Given the description of an element on the screen output the (x, y) to click on. 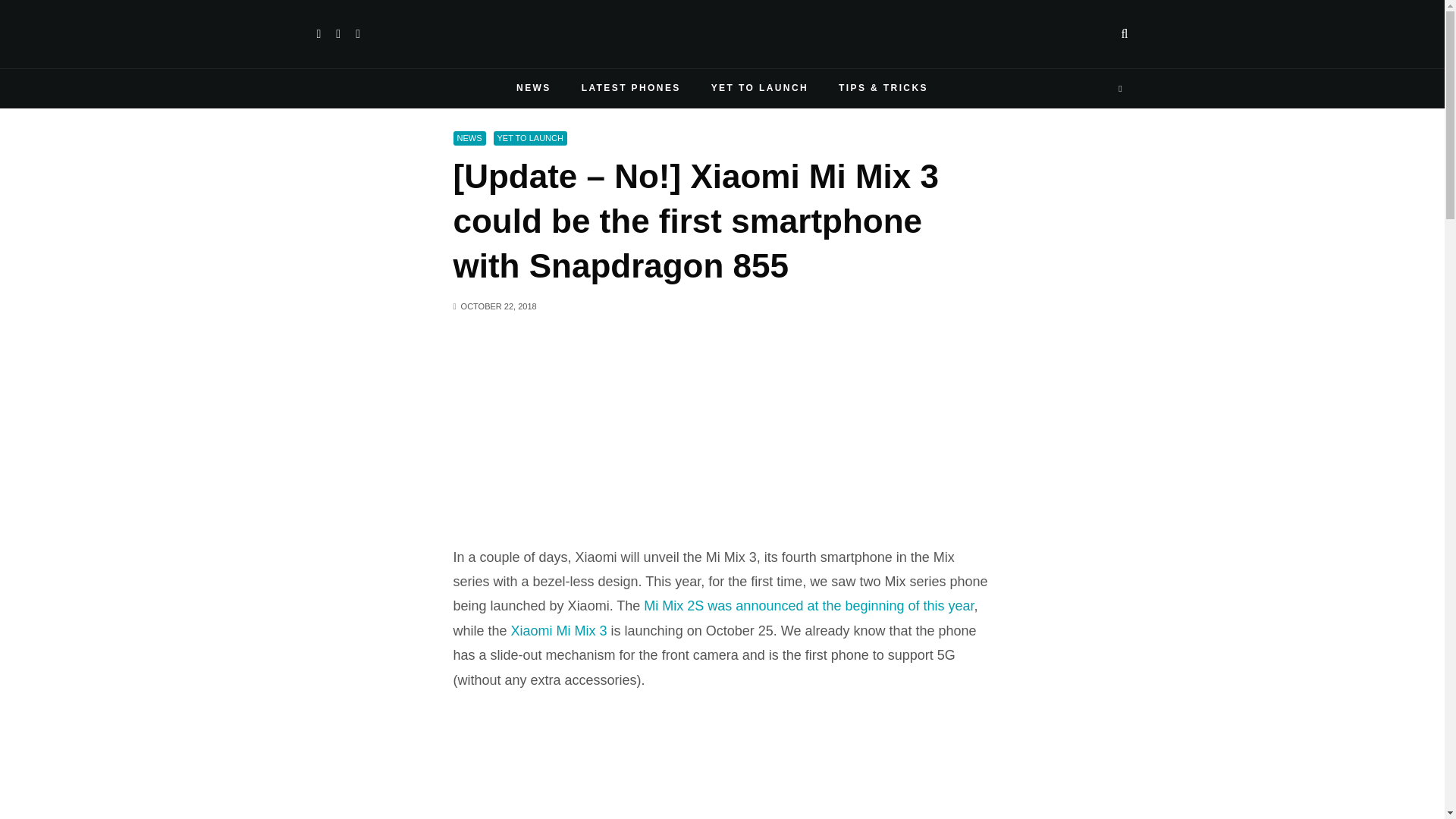
LATEST PHONES (630, 88)
YET TO LAUNCH (759, 88)
NEWS (533, 88)
